Given the description of an element on the screen output the (x, y) to click on. 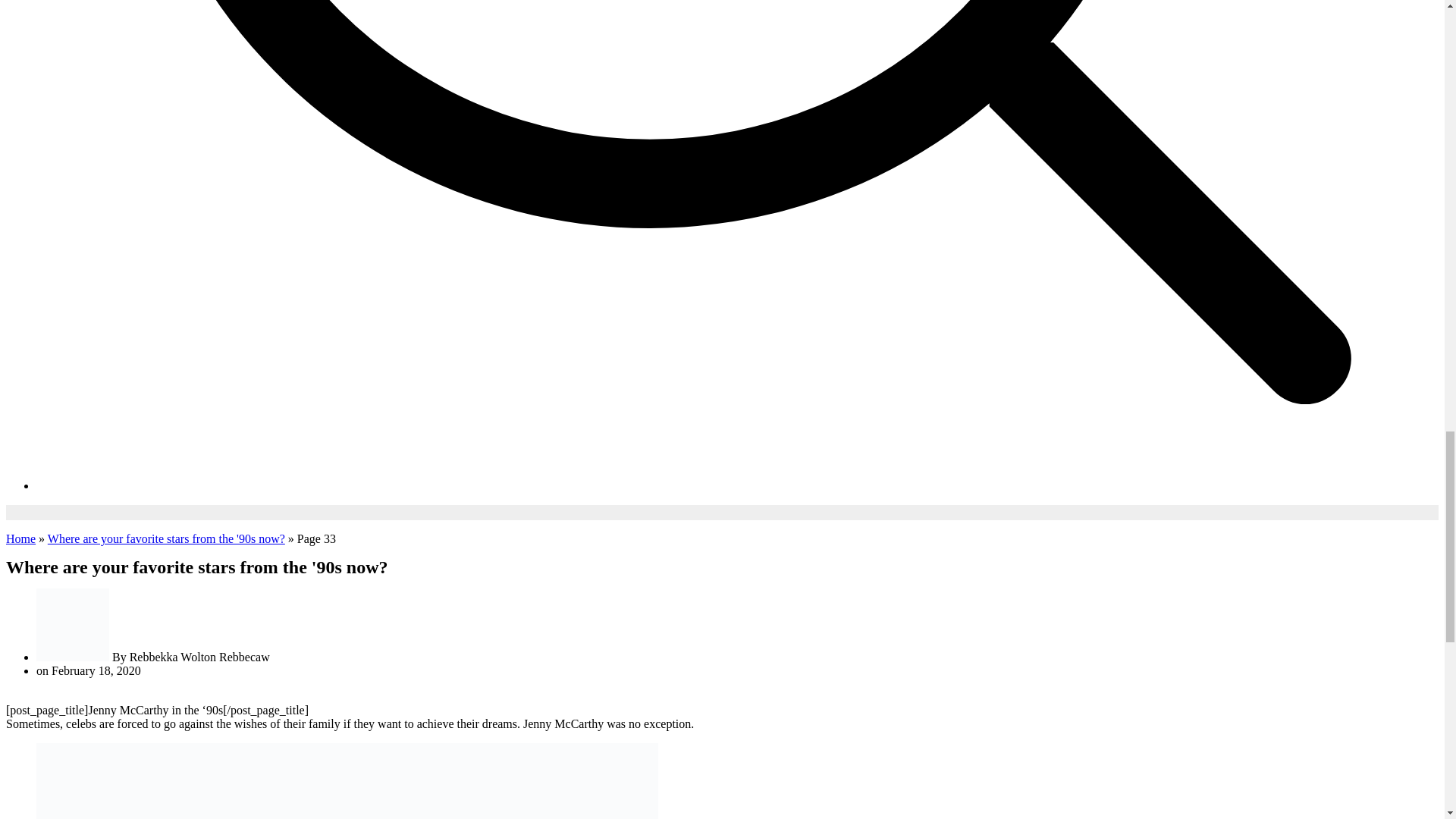
Home (19, 538)
Where are your favorite stars from the '90s now? (166, 538)
